Given the description of an element on the screen output the (x, y) to click on. 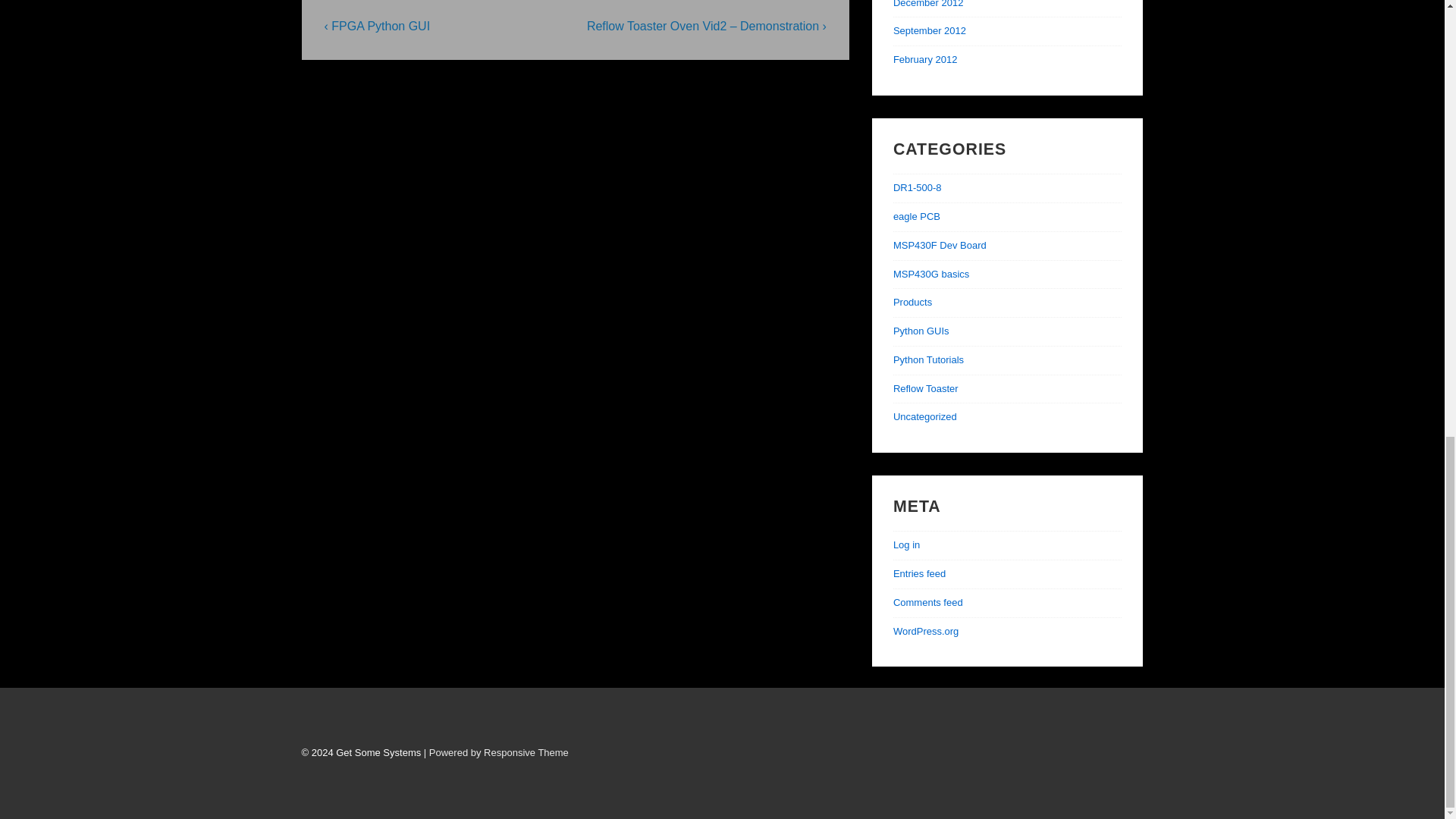
DR1-500-8 (917, 187)
Category for the first real high performance data recorder. (917, 187)
December 2012 (928, 4)
Python Tutorials (928, 359)
MSP430G basics (931, 274)
Products (912, 301)
September 2012 (929, 30)
February 2012 (925, 59)
eagle PCB (916, 215)
MSP430F Dev Board (940, 244)
